Given the description of an element on the screen output the (x, y) to click on. 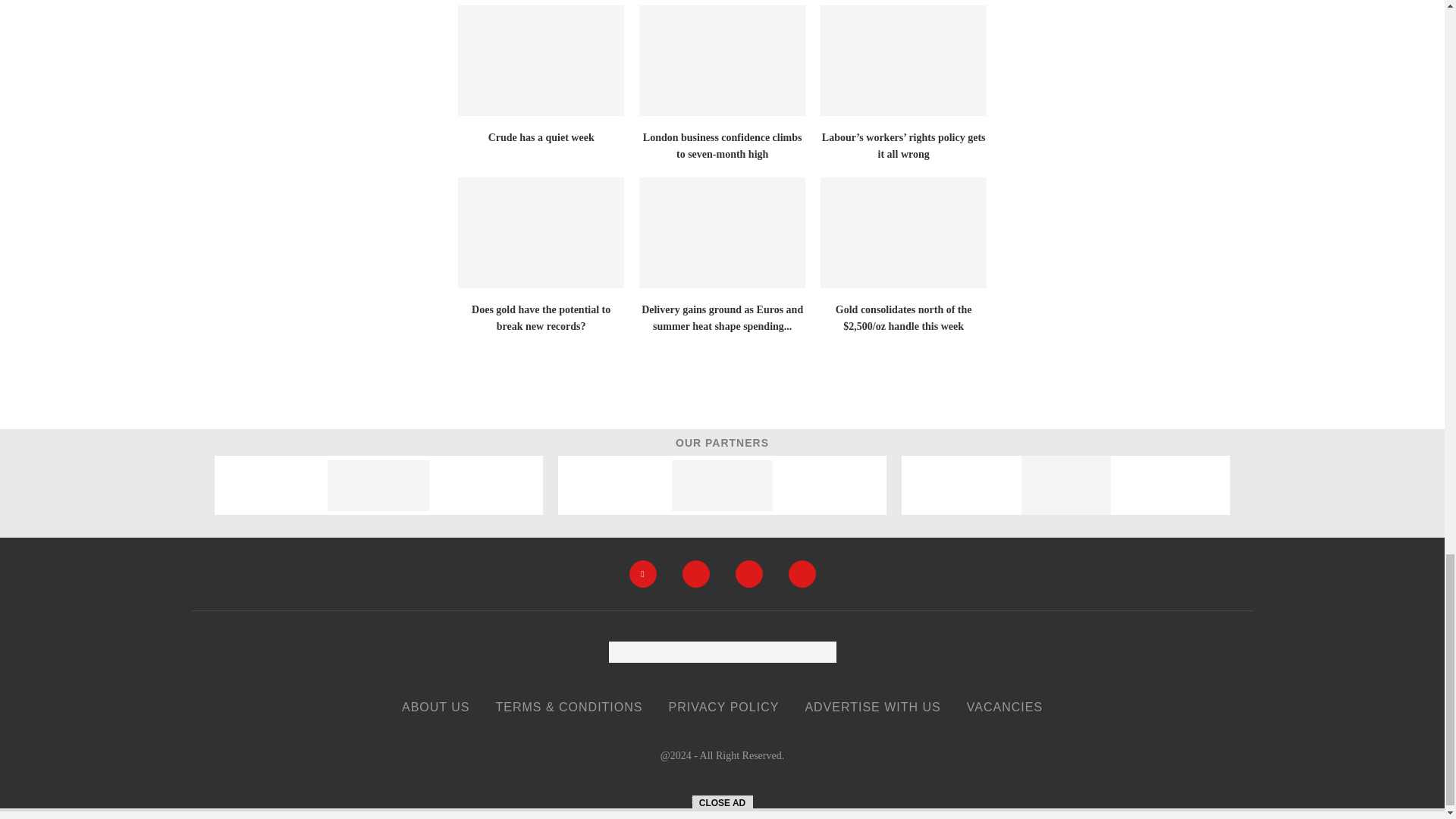
London business confidence climbs to seven-month high (722, 60)
Does gold have the potential to break new records? (541, 232)
Crude has a quiet week (541, 60)
